Given the description of an element on the screen output the (x, y) to click on. 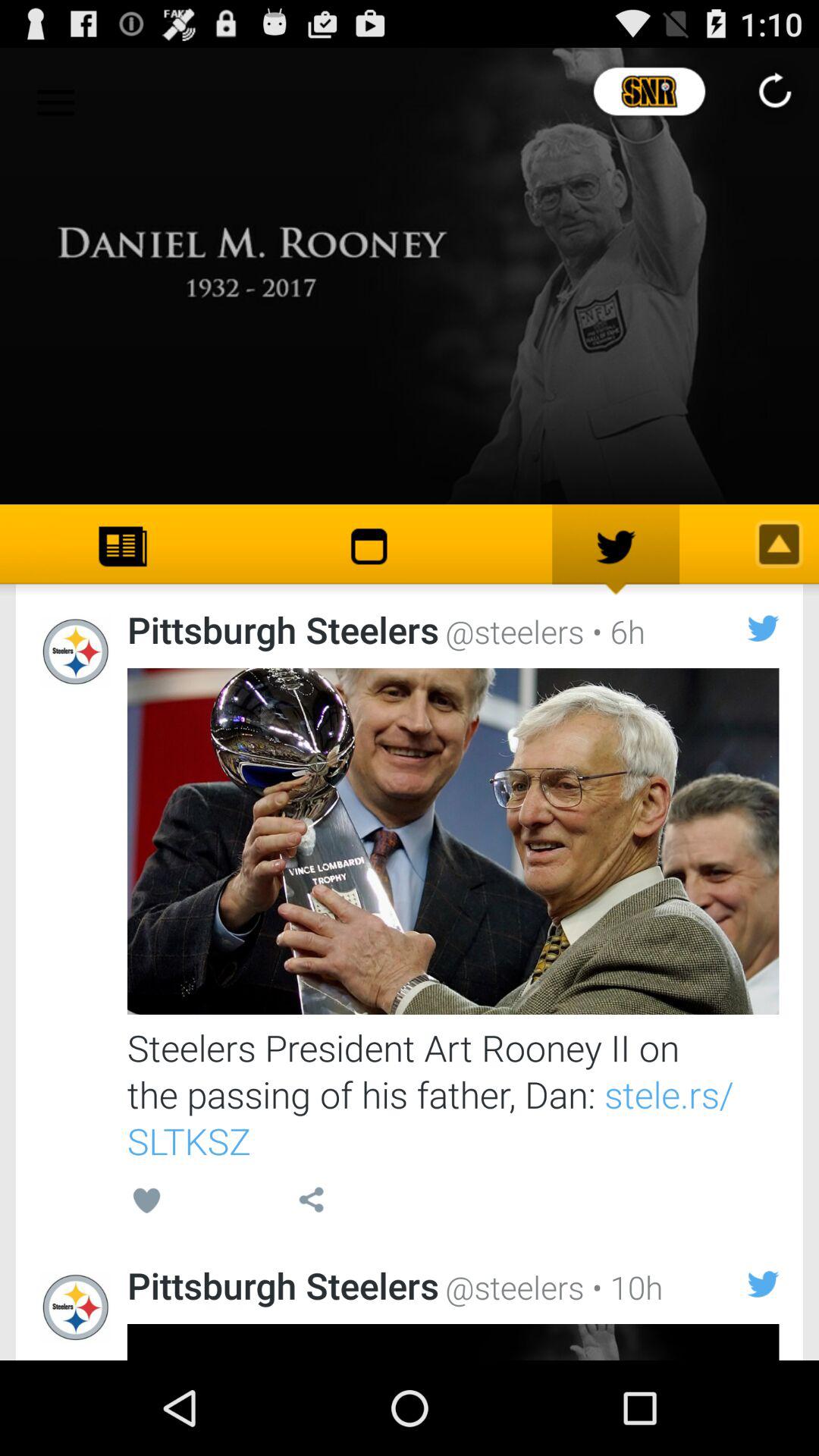
choose the icon at the top left corner (55, 97)
